Given the description of an element on the screen output the (x, y) to click on. 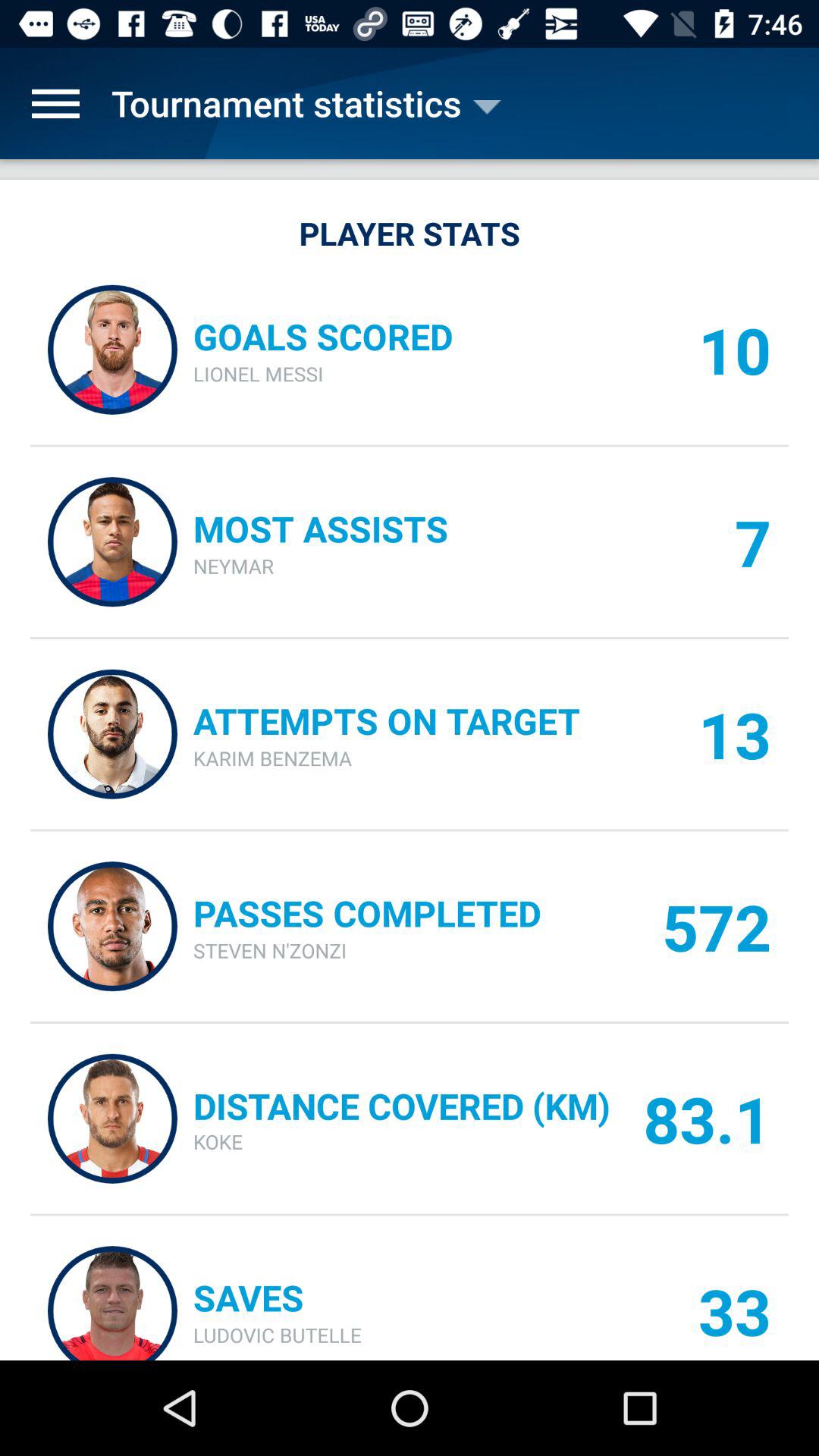
choose the icon to the left of tournament statistics icon (55, 103)
